Given the description of an element on the screen output the (x, y) to click on. 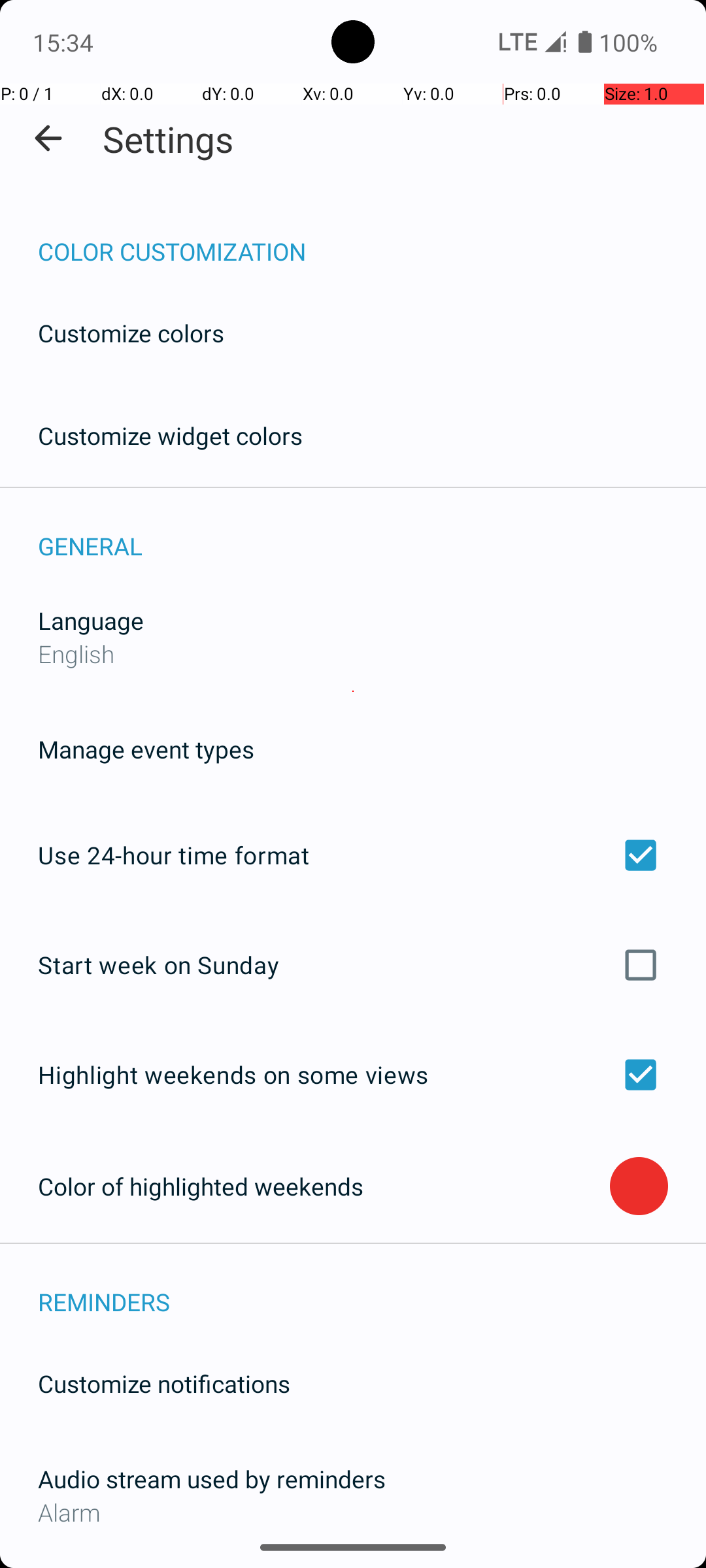
Color of highlighted weekends Element type: android.widget.TextView (323, 1186)
